Given the description of an element on the screen output the (x, y) to click on. 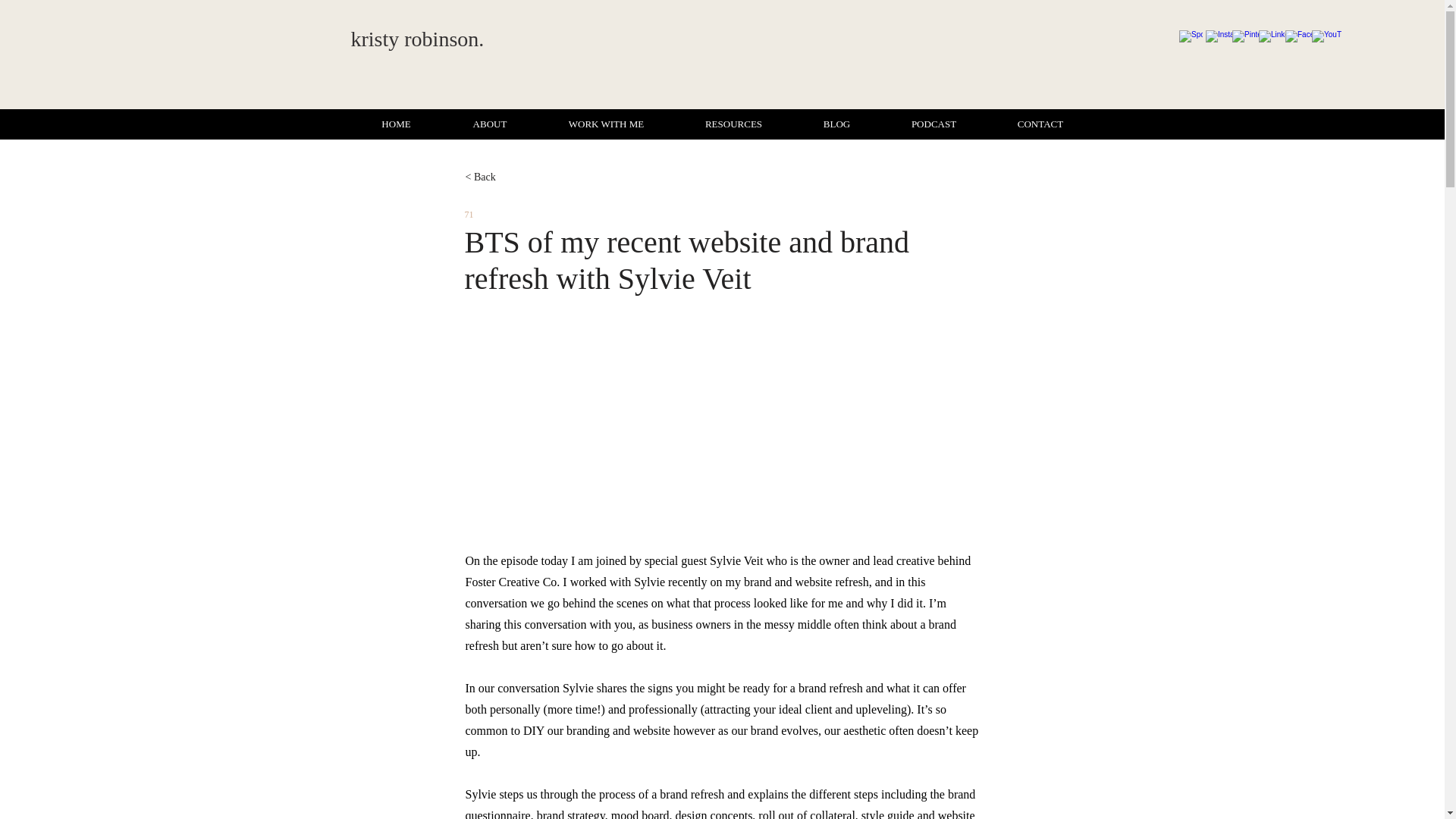
kristy robinson. (416, 38)
BLOG (836, 123)
RESOURCES (734, 123)
ABOUT (489, 123)
CONTACT (1040, 123)
PODCAST (933, 123)
HOME (395, 123)
WORK WITH ME (606, 123)
